Given the description of an element on the screen output the (x, y) to click on. 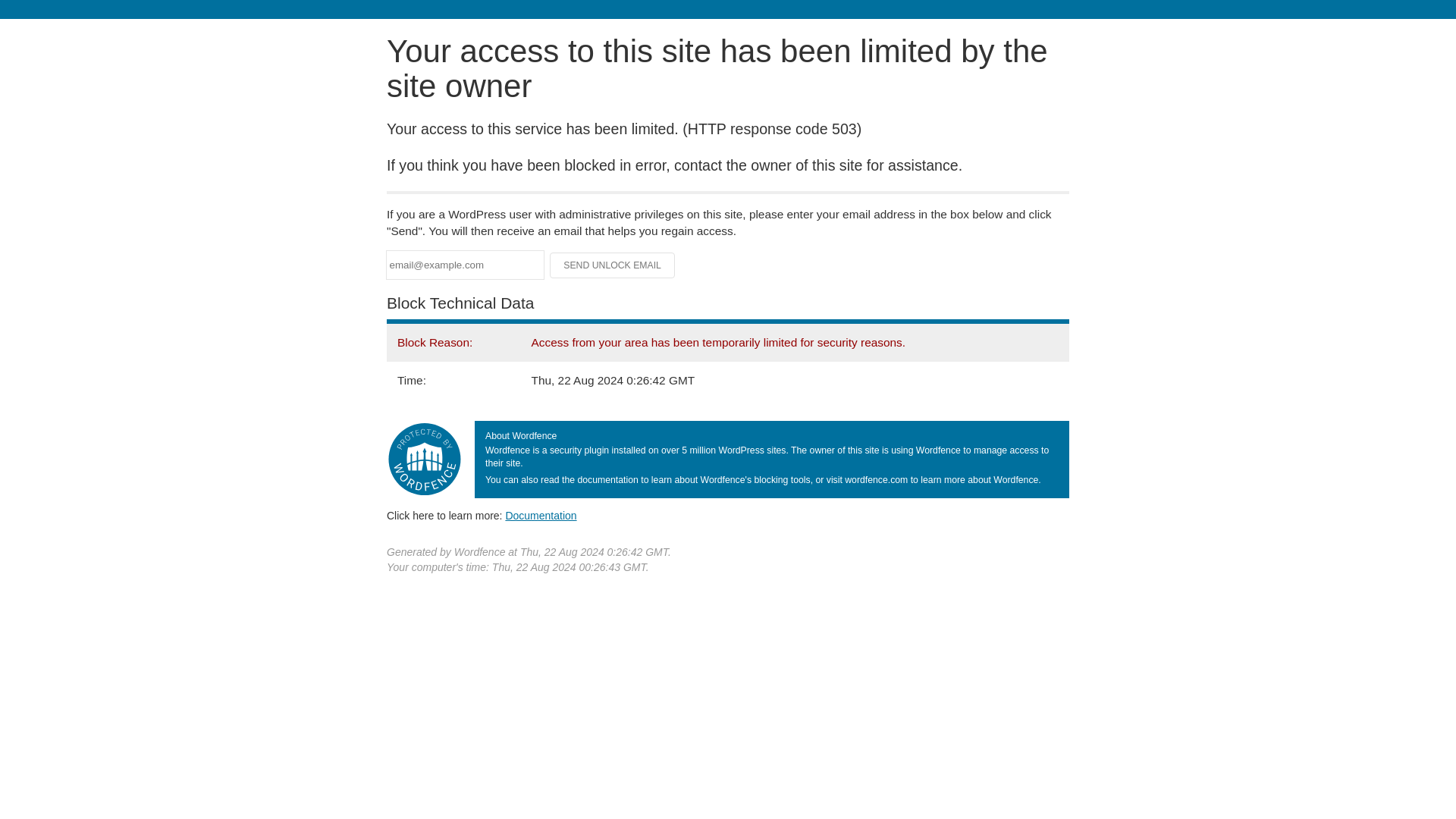
Send Unlock Email (612, 265)
Documentation (540, 515)
Send Unlock Email (612, 265)
